Given the description of an element on the screen output the (x, y) to click on. 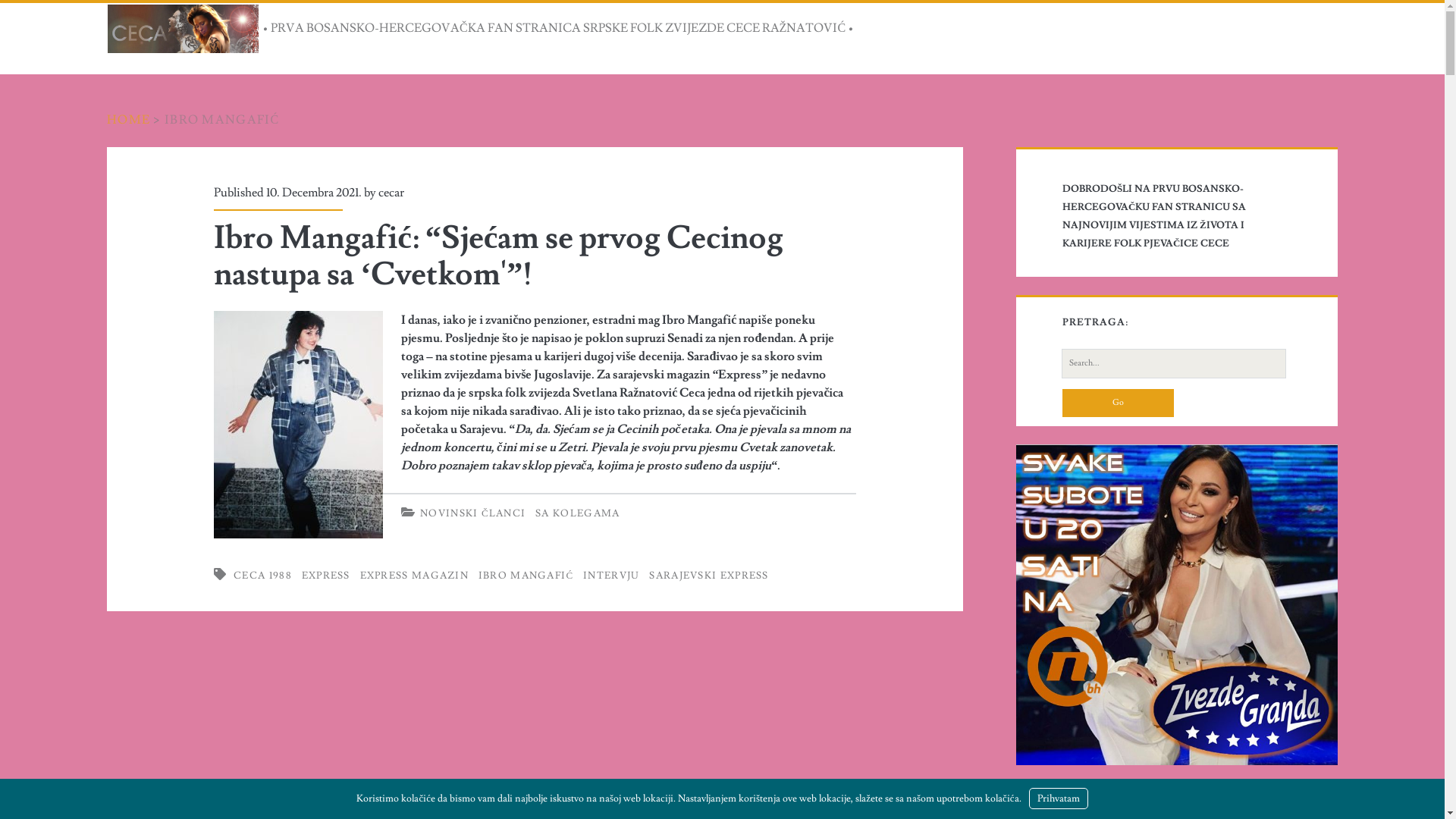
Prihvatam Element type: text (1058, 798)
SA KOLEGAMA Element type: text (577, 513)
INTERVJU Element type: text (611, 575)
HOME Element type: text (128, 119)
CECA 1988 Element type: text (262, 575)
Search for: Element type: hover (1173, 362)
ZVEZDE GRANDA SA CECOM NA NOVA BH TV Element type: hover (1176, 604)
Go Element type: text (1117, 402)
cecar Element type: text (391, 192)
SARAJEVSKI EXPRESS Element type: text (708, 575)
EXPRESS Element type: text (325, 575)
EXPRESS MAGAZIN Element type: text (414, 575)
